Given the description of an element on the screen output the (x, y) to click on. 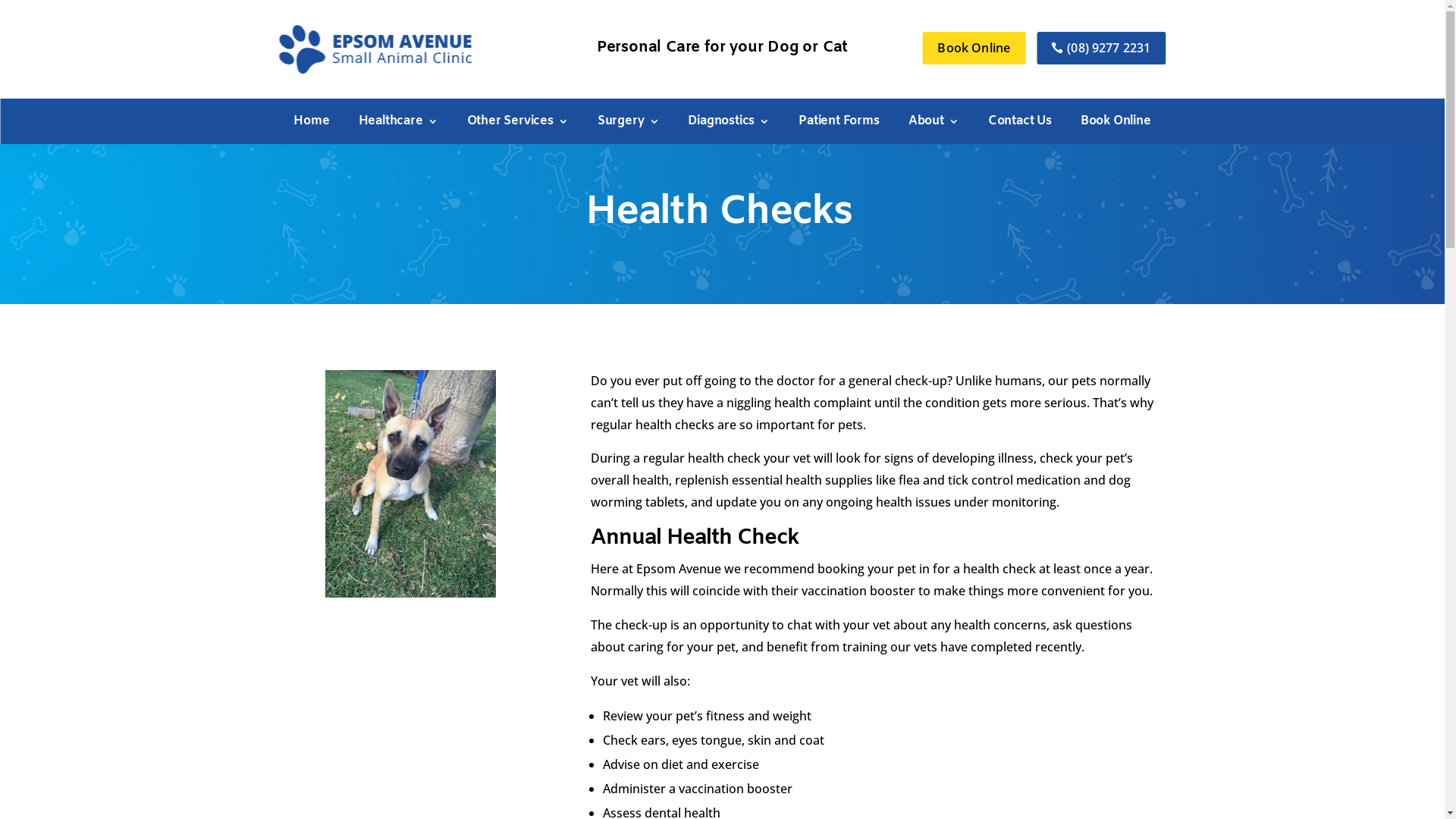
Home Element type: text (311, 123)
Book Online Element type: text (1115, 123)
dog worming tablets Element type: text (860, 490)
flea and tick control Element type: text (955, 479)
Contact Us Element type: text (1019, 123)
Diagnostics Element type: text (728, 123)
(08) 9277 2231 Element type: text (1100, 47)
logo Element type: hover (375, 49)
Book Online Element type: text (973, 47)
Healthcare Element type: text (398, 123)
Surgery Element type: text (628, 123)
Patient Forms Element type: text (838, 123)
About Element type: text (933, 123)
Other Services Element type: text (517, 123)
